Given the description of an element on the screen output the (x, y) to click on. 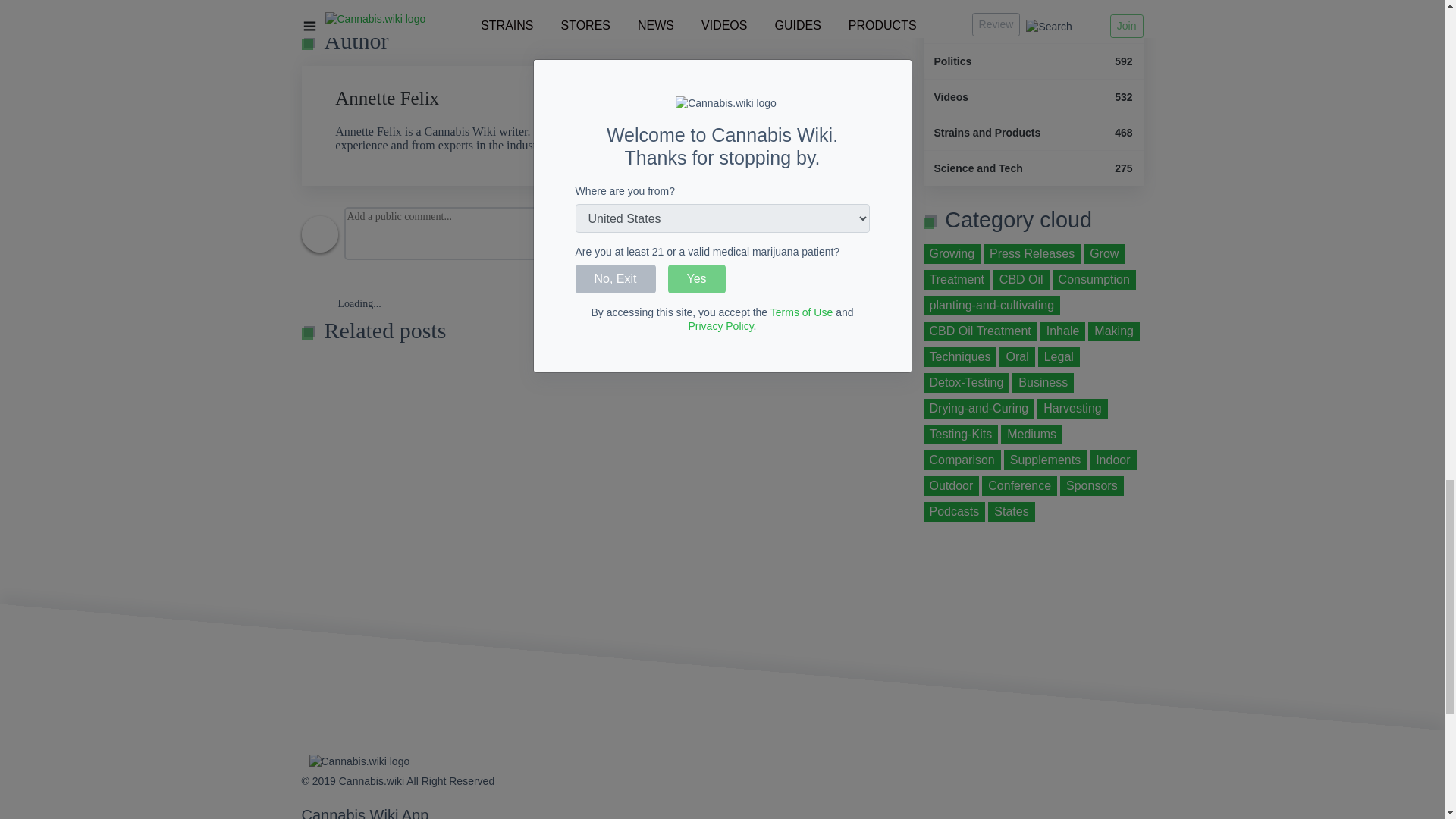
Growing (952, 253)
POST (1032, 4)
Annette Felix (879, 284)
CANCEL (386, 97)
